Given the description of an element on the screen output the (x, y) to click on. 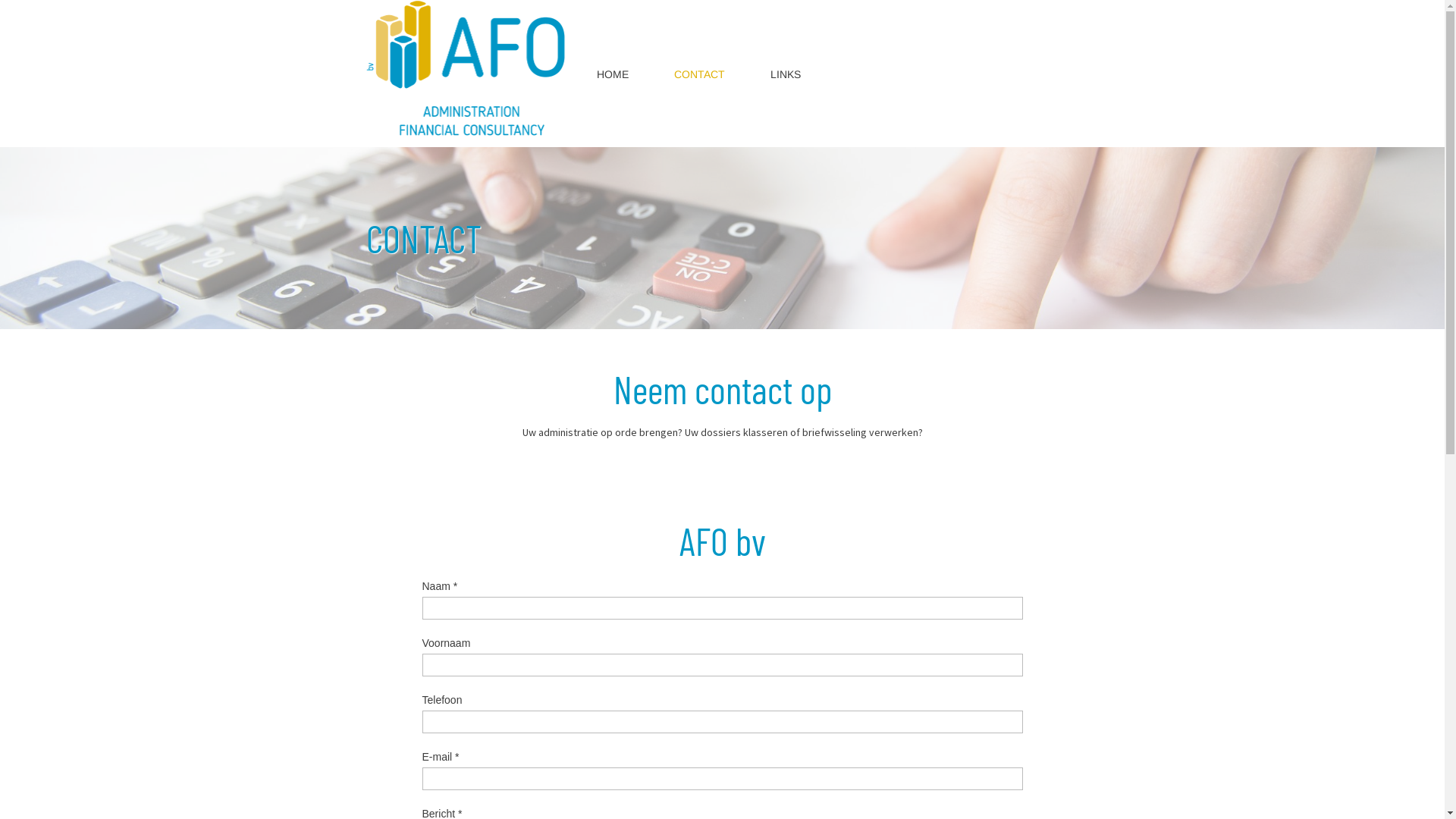
HOME Element type: text (611, 73)
CONTACT Element type: text (698, 73)
LINKS Element type: text (785, 73)
